Given the description of an element on the screen output the (x, y) to click on. 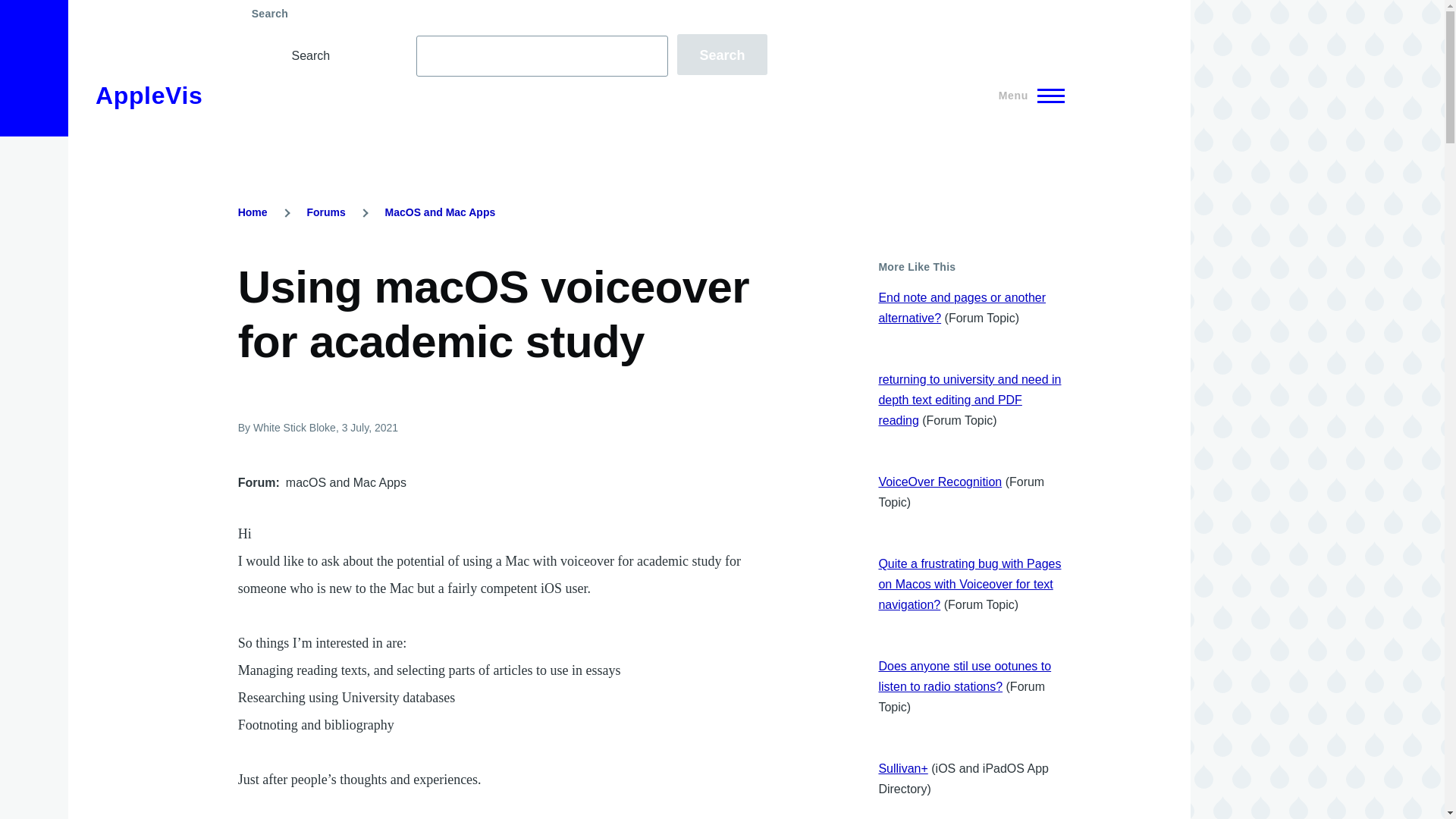
MacOS and Mac Apps (440, 212)
Home (252, 212)
Home (149, 94)
Does anyone stil use ootunes to listen to radio stations? (964, 676)
Search (722, 54)
VoiceOver Recognition (939, 481)
AppleVis (149, 94)
End note and pages or another alternative? (961, 307)
